Given the description of an element on the screen output the (x, y) to click on. 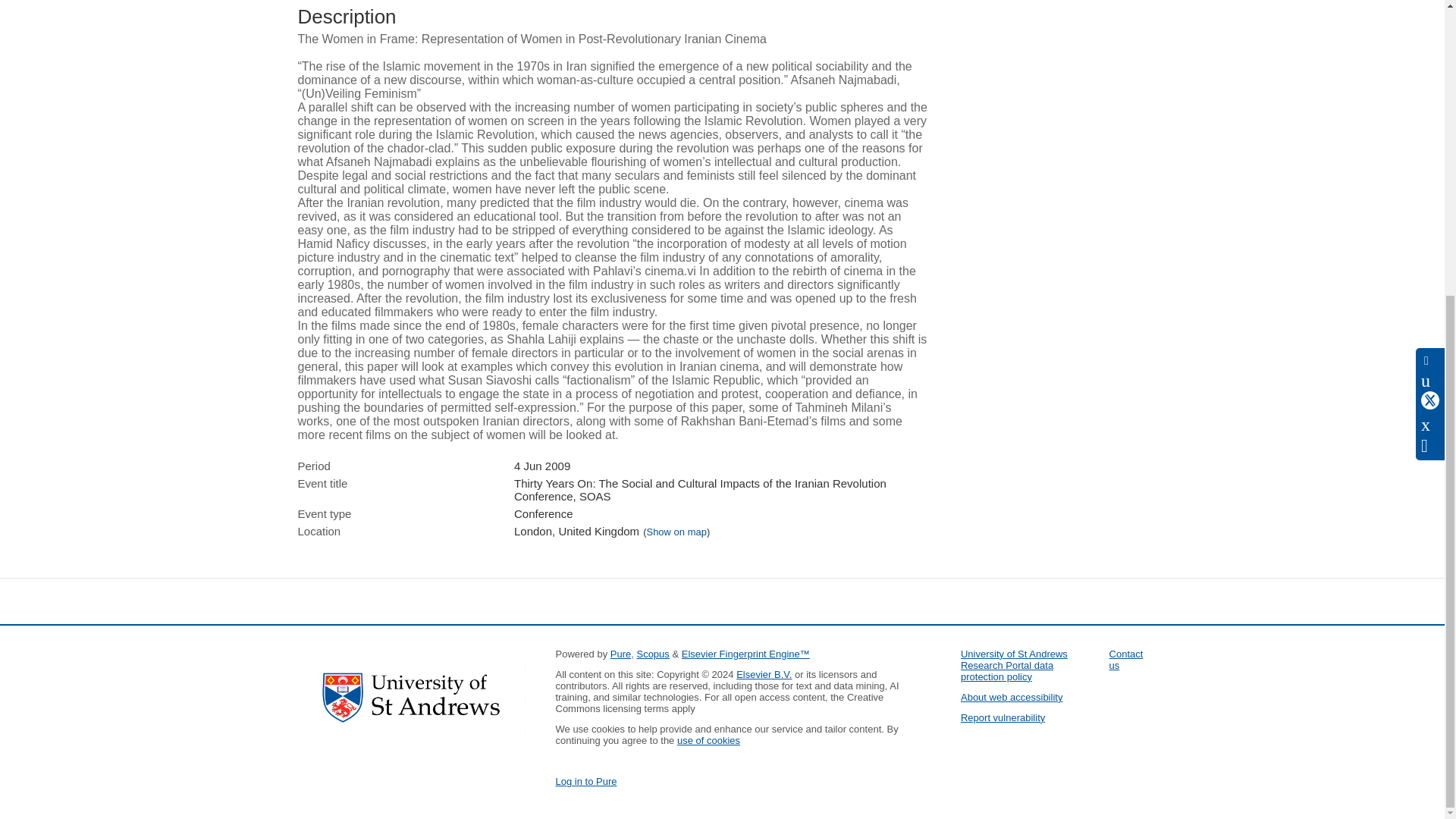
Show on map (676, 531)
About web accessibility (1011, 696)
Contact us (1125, 659)
Elsevier B.V. (764, 674)
Report vulnerability (1002, 717)
use of cookies (708, 740)
Log in to Pure (584, 781)
Scopus (652, 654)
Pure (620, 654)
